Given the description of an element on the screen output the (x, y) to click on. 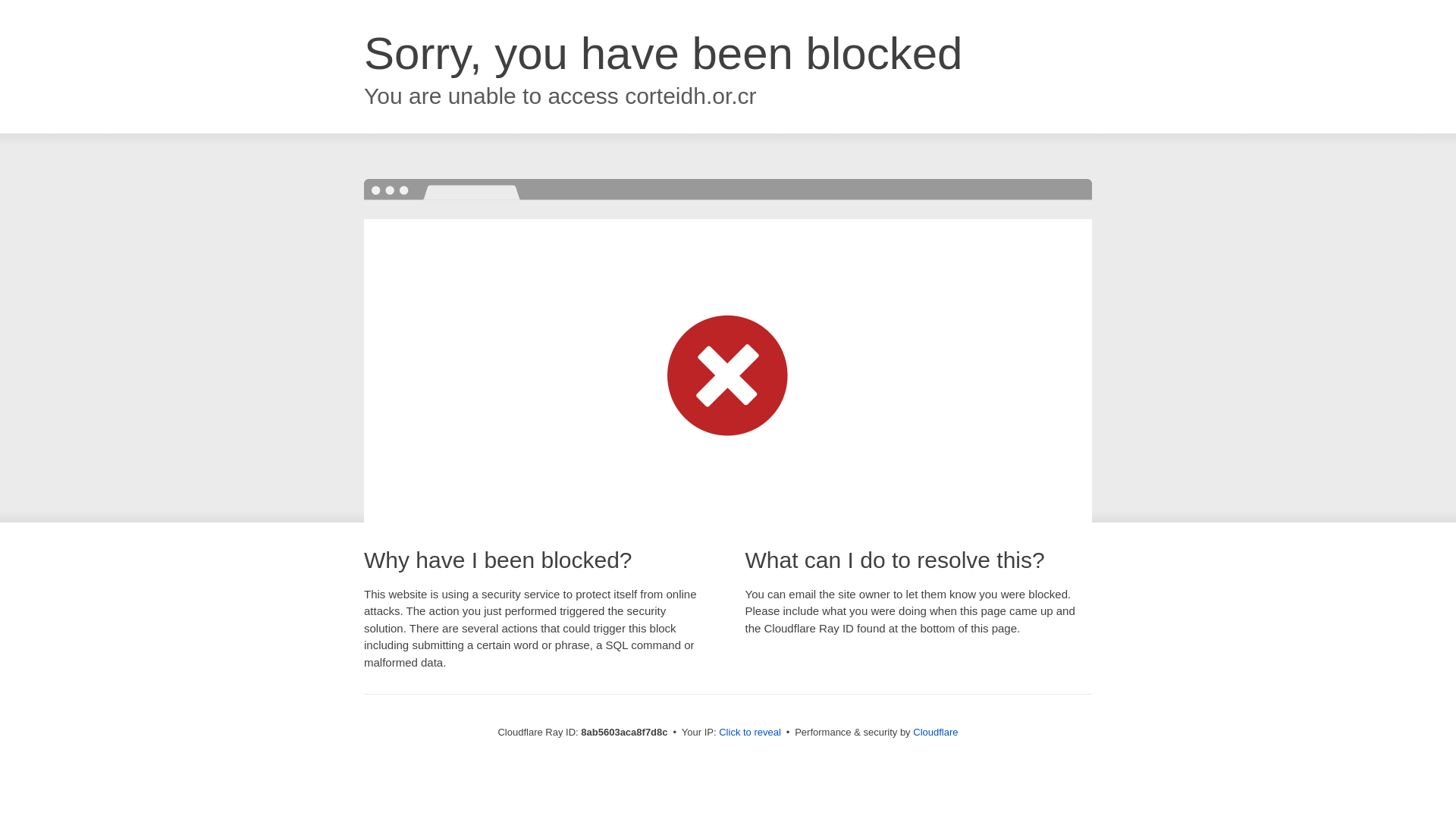
Cloudflare (935, 731)
Click to reveal (749, 732)
